Given the description of an element on the screen output the (x, y) to click on. 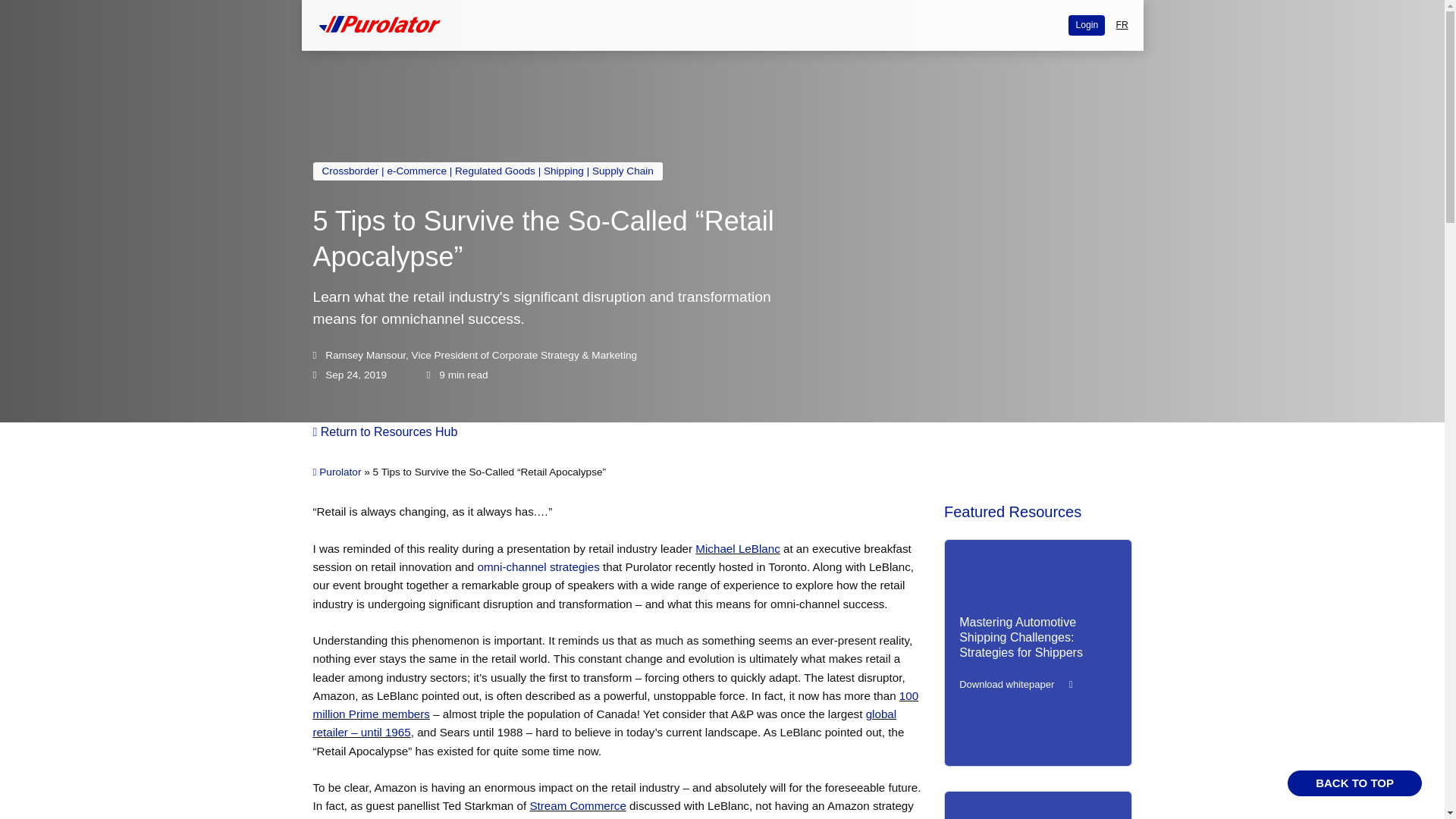
e-Commerce (416, 170)
Michael LeBlanc (736, 548)
Shipping (563, 170)
FR (1120, 25)
FR (1120, 25)
Supply Chain (622, 170)
Stream Commerce (577, 805)
